Given the description of an element on the screen output the (x, y) to click on. 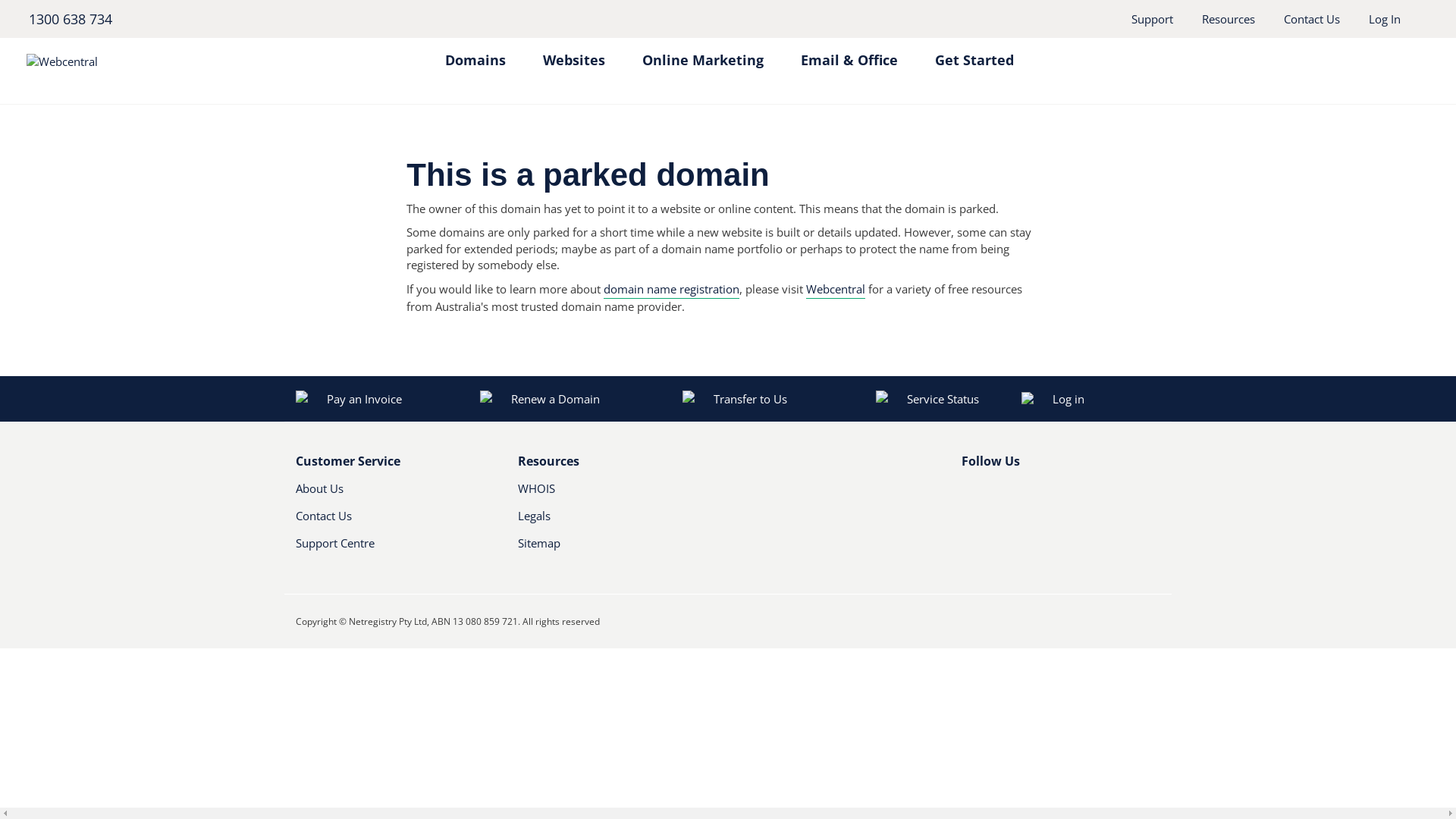
Get Started Element type: text (973, 52)
Contact Us Element type: text (1311, 18)
Support Centre Element type: text (395, 548)
Websites Element type: text (573, 52)
domain name registration Element type: text (671, 289)
Youtube Element type: hover (1019, 494)
Email & Office Element type: text (848, 52)
Resources Element type: text (1228, 18)
Contact Us Element type: text (379, 521)
Transfer to Us Element type: text (734, 398)
Domains Element type: text (474, 52)
1300 638 734 Element type: text (69, 18)
RSS Element type: hover (1045, 494)
Support Element type: text (1152, 18)
Service Status Element type: text (927, 398)
Twitter Element type: hover (993, 494)
WHOIS Element type: text (601, 494)
About Us Element type: text (379, 494)
Log In Element type: text (1384, 18)
Legals Element type: text (601, 521)
Online Marketing Element type: text (701, 52)
Log in Element type: text (1111, 398)
Sitemap Element type: text (616, 548)
Pay an Invoice Element type: text (348, 398)
Webcentral Element type: hover (163, 60)
Webcentral Element type: text (835, 289)
Renew a Domain Element type: text (540, 398)
Facebook Element type: hover (970, 494)
